Given the description of an element on the screen output the (x, y) to click on. 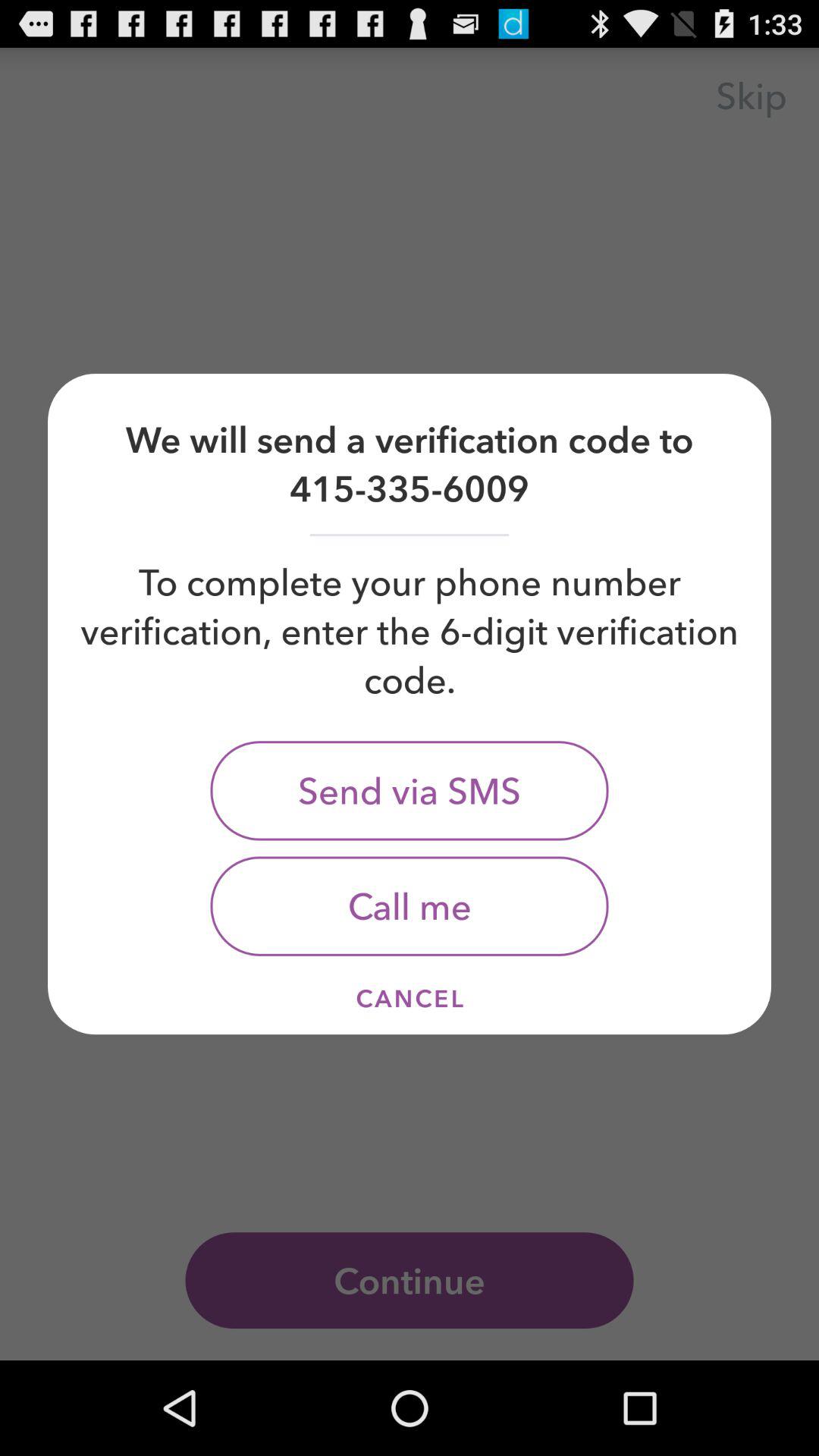
open item above the cancel (409, 906)
